Given the description of an element on the screen output the (x, y) to click on. 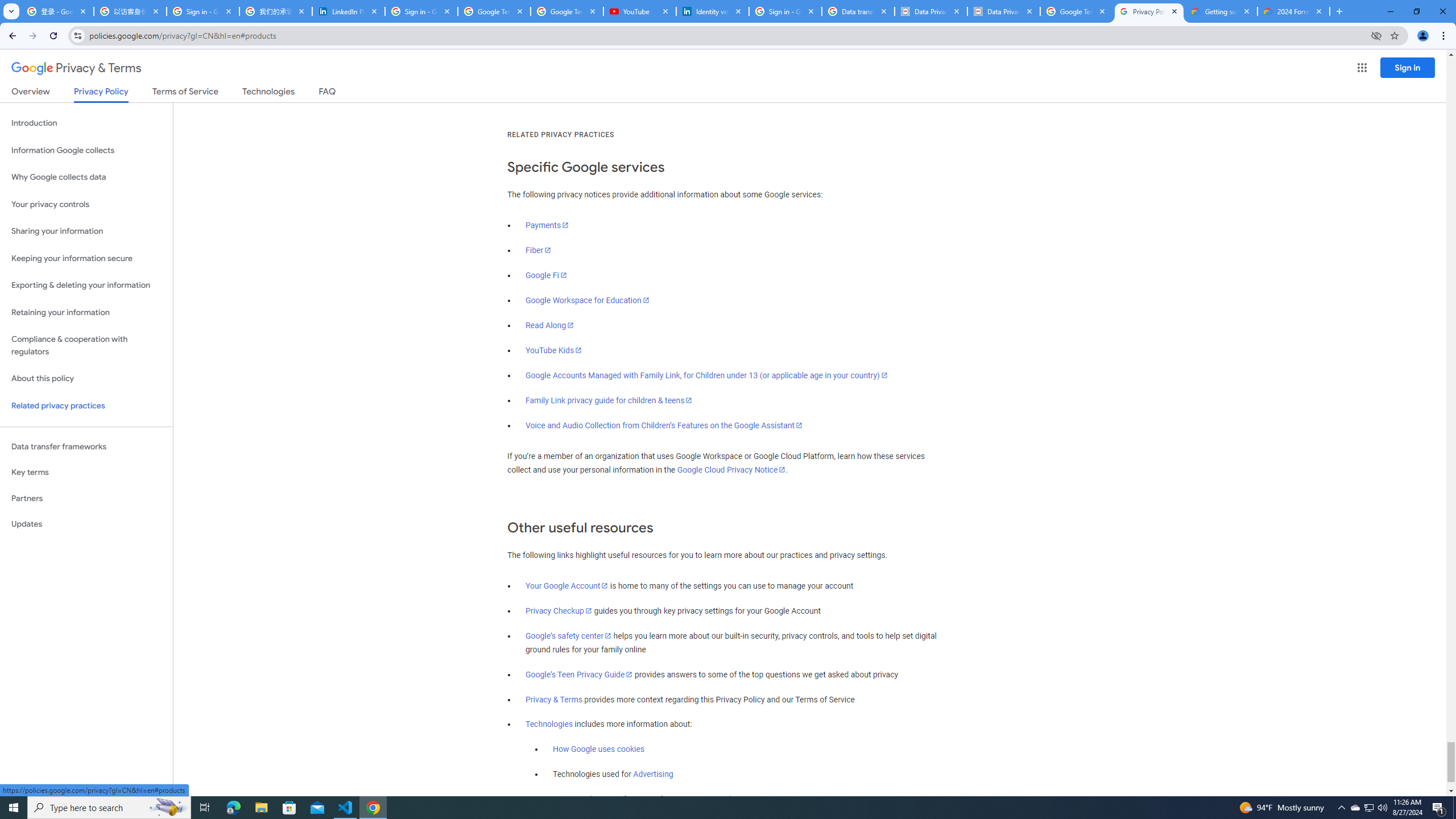
Information Google collects (86, 150)
Your privacy controls (86, 204)
Exporting & deleting your information (86, 284)
How Google uses cookies (599, 749)
About this policy (86, 379)
Google Fi (545, 275)
